Given the description of an element on the screen output the (x, y) to click on. 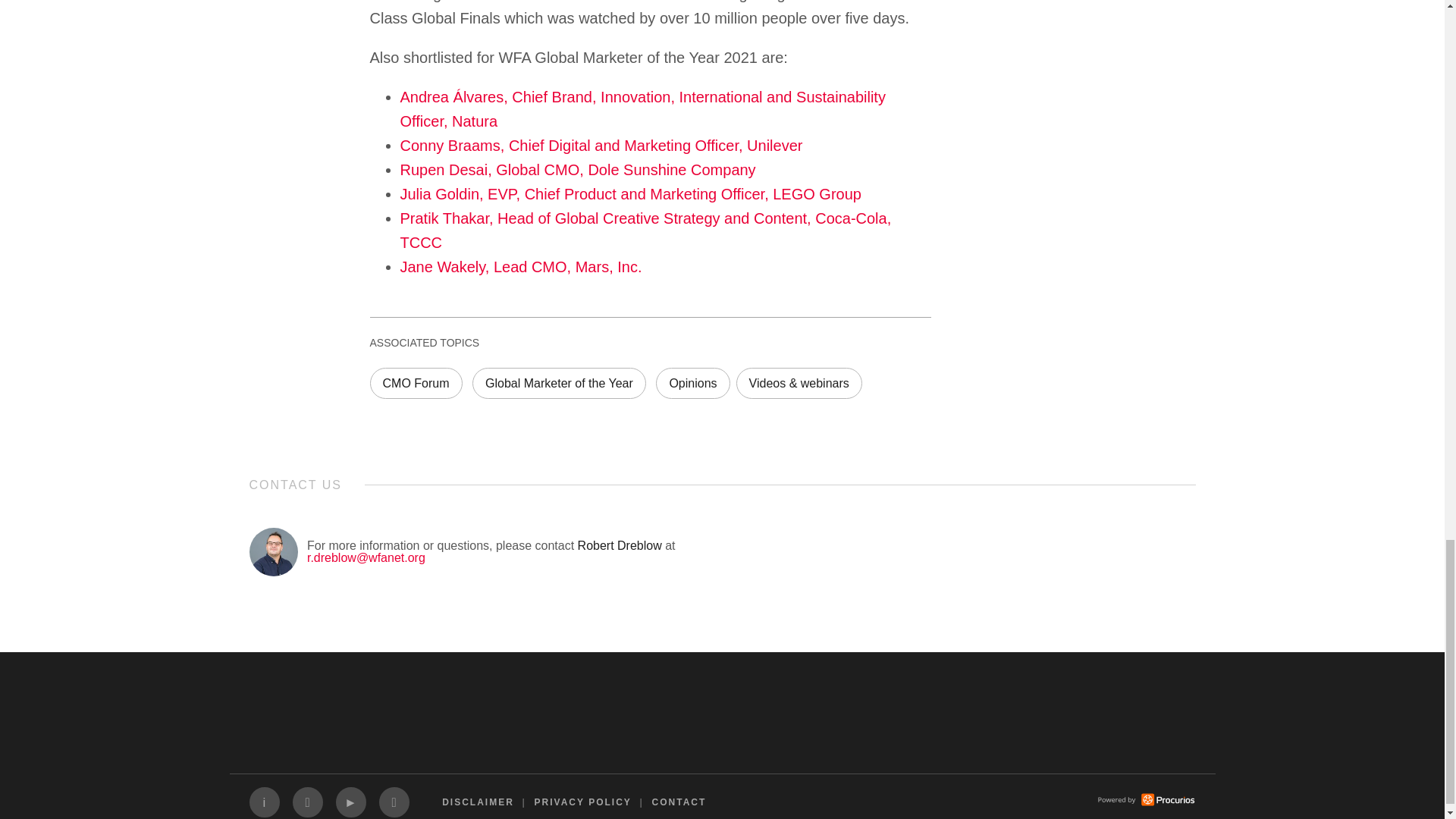
Show posts with the tag 'CMO Forum' (416, 382)
Follow us on X (307, 802)
View our Youtube page (349, 802)
Show posts with the tag 'Global Marketer of the Year' (558, 382)
Join our LinkedIn group (263, 802)
Follow us on Spotify (393, 802)
